Given the description of an element on the screen output the (x, y) to click on. 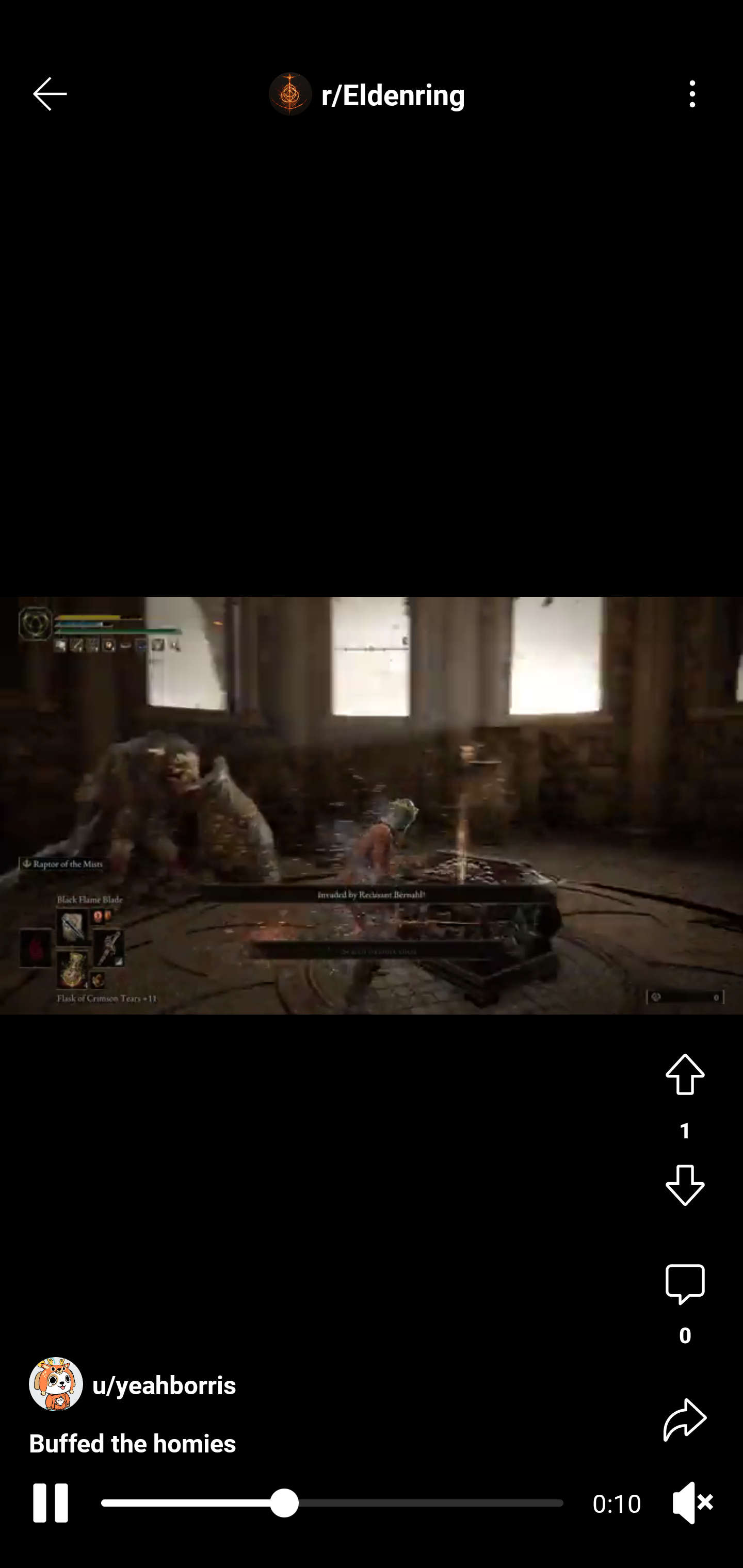
Back (50, 93)
r slash Eldenring (371, 93)
More options (692, 93)
Upvote this post (684, 1071)
Downvote this post (684, 1187)
0 comments (684, 1305)
yeahborris, post creator (136, 1384)
Share this post (684, 1417)
Buffed the homies  (135, 1425)
Pause (46, 1502)
Unmute (692, 1502)
